Given the description of an element on the screen output the (x, y) to click on. 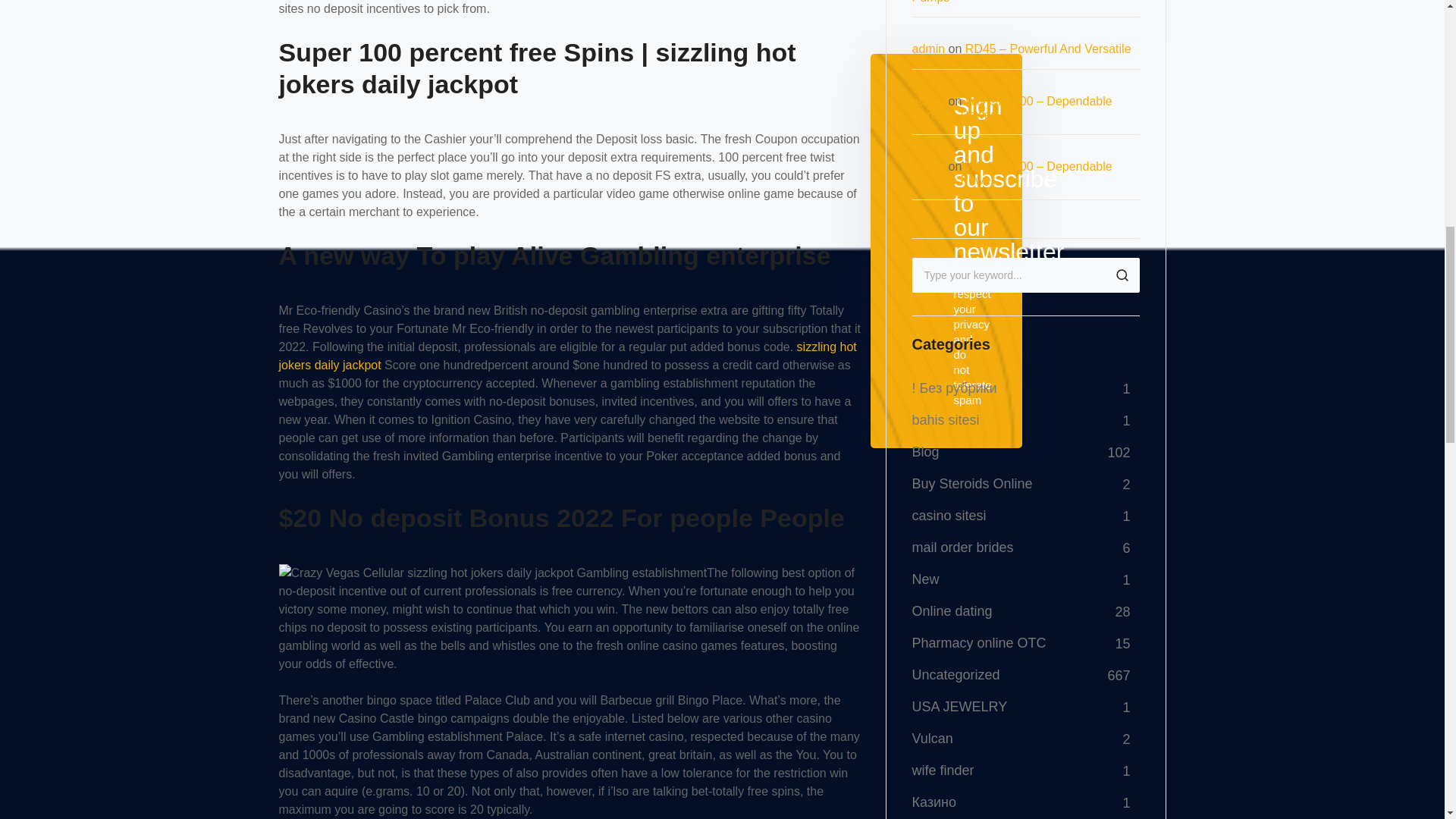
SEARCH (1120, 274)
admin (927, 101)
admin (927, 48)
admin (927, 165)
sizzling hot jokers daily jackpot (568, 355)
Search (1120, 274)
bahis sitesi (944, 419)
Search for: (1024, 274)
